Given the description of an element on the screen output the (x, y) to click on. 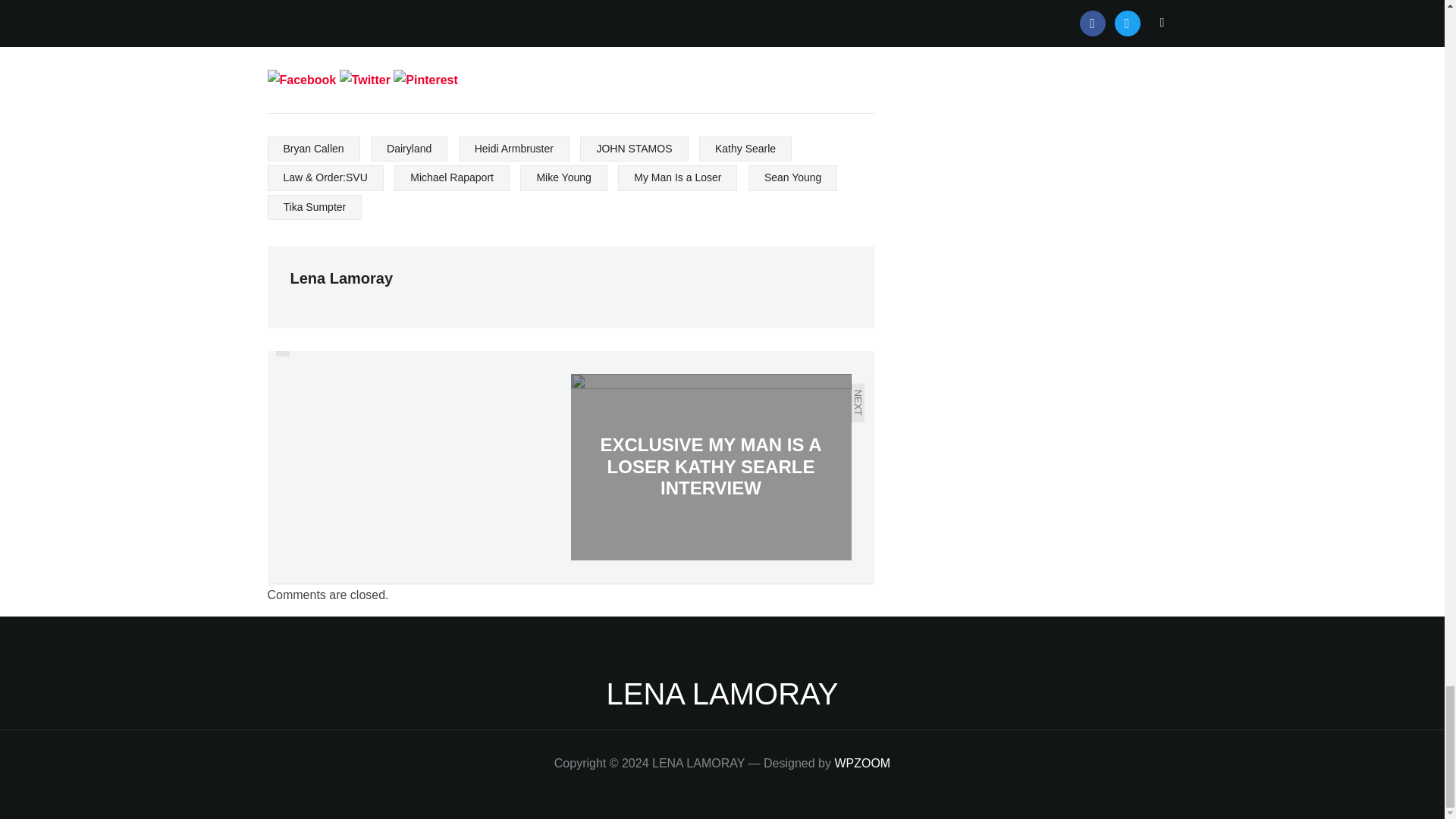
Pinterest (425, 79)
Facebook (301, 79)
Twitter (364, 79)
'Justified' season finale preview clip (328, 33)
JUSTIFIED preview clip (572, 33)
Posts by Lena Lamoray (341, 278)
